Given the description of an element on the screen output the (x, y) to click on. 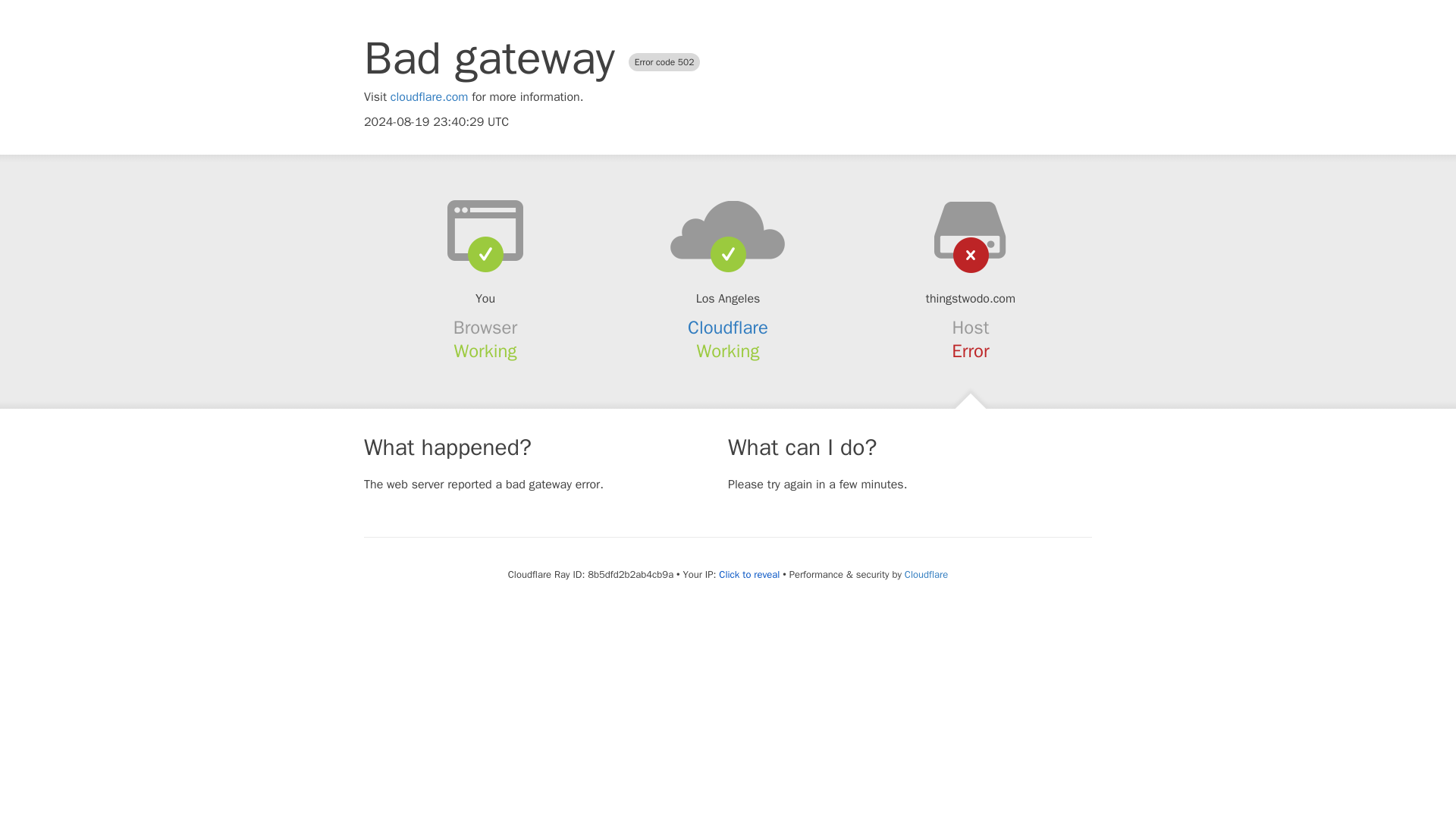
Cloudflare (727, 327)
Cloudflare (925, 574)
cloudflare.com (429, 96)
Click to reveal (748, 574)
